Given the description of an element on the screen output the (x, y) to click on. 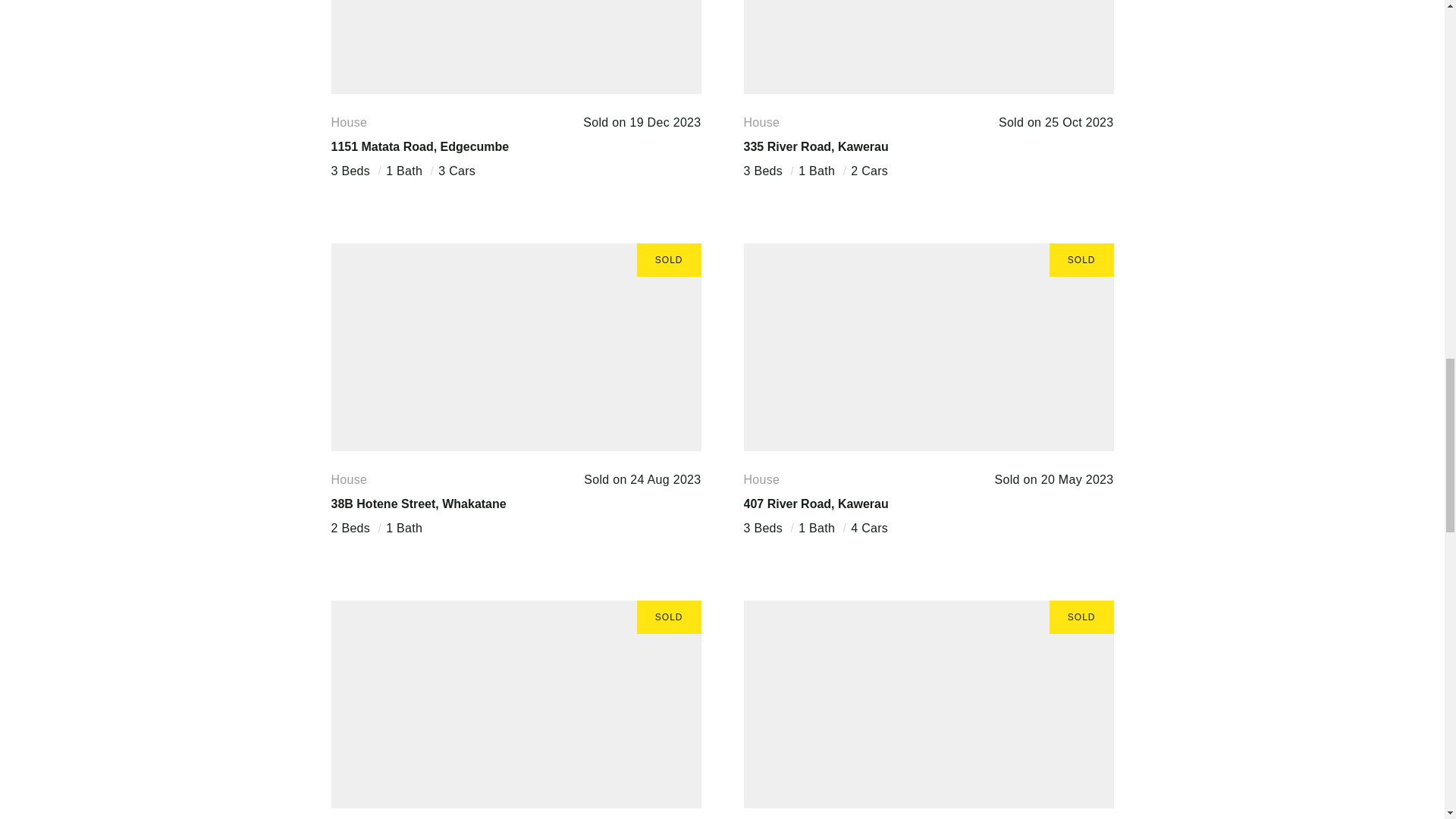
SOLD (927, 47)
SOLD (927, 347)
38B Hotene Street, Whakatane (417, 503)
SOLD (515, 347)
1151 Matata Road, Edgecumbe (419, 146)
SOLD (515, 704)
SOLD (515, 47)
335 River Road, Kawerau (815, 146)
407 River Road, Kawerau (815, 503)
SOLD (927, 704)
